Given the description of an element on the screen output the (x, y) to click on. 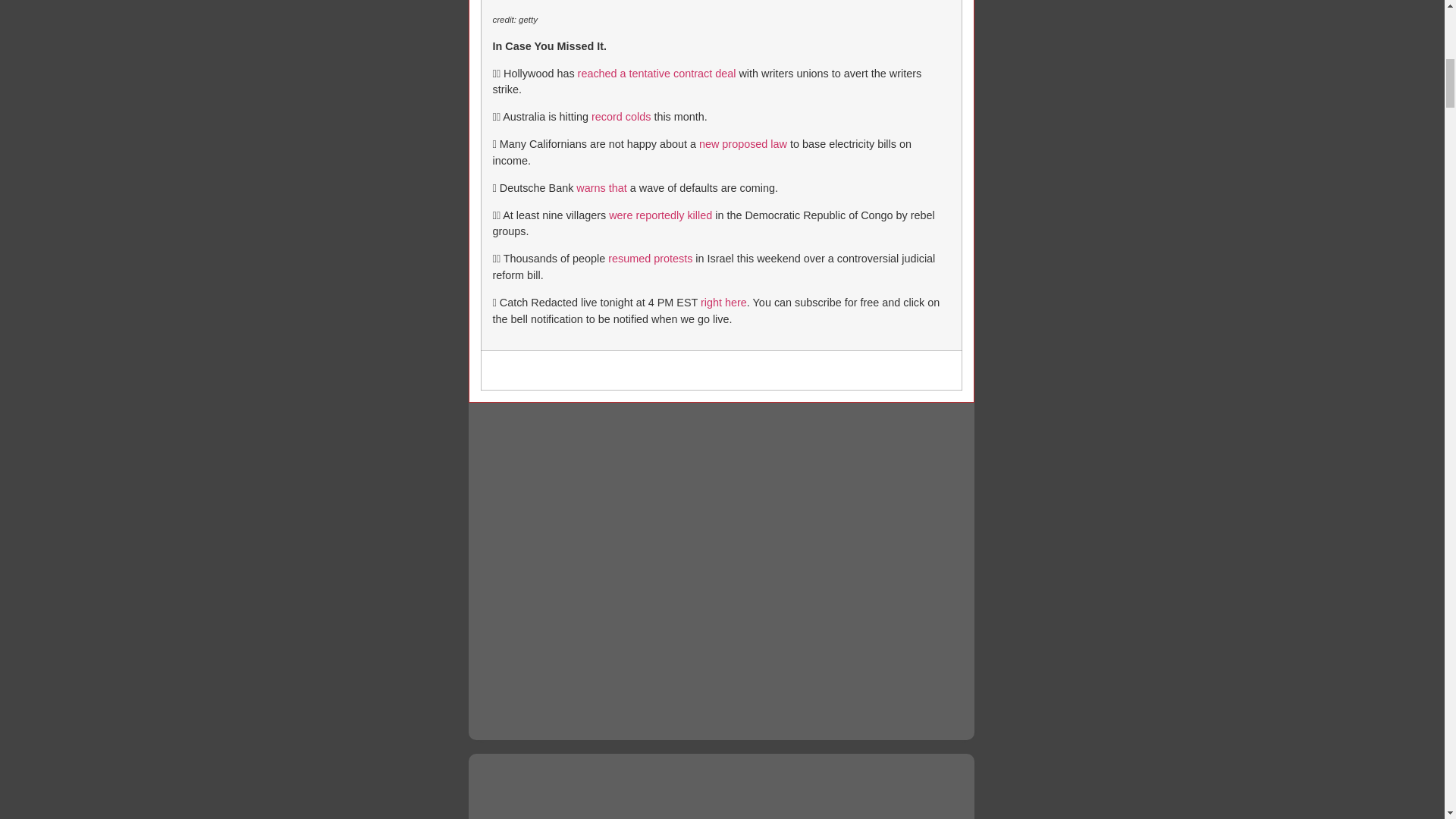
were reportedly killed (659, 215)
warns that (601, 187)
credit: (504, 19)
right here (723, 302)
resumed protests (650, 258)
reached a tentative contract deal (657, 73)
new proposed law (742, 143)
record colds (620, 116)
